Given the description of an element on the screen output the (x, y) to click on. 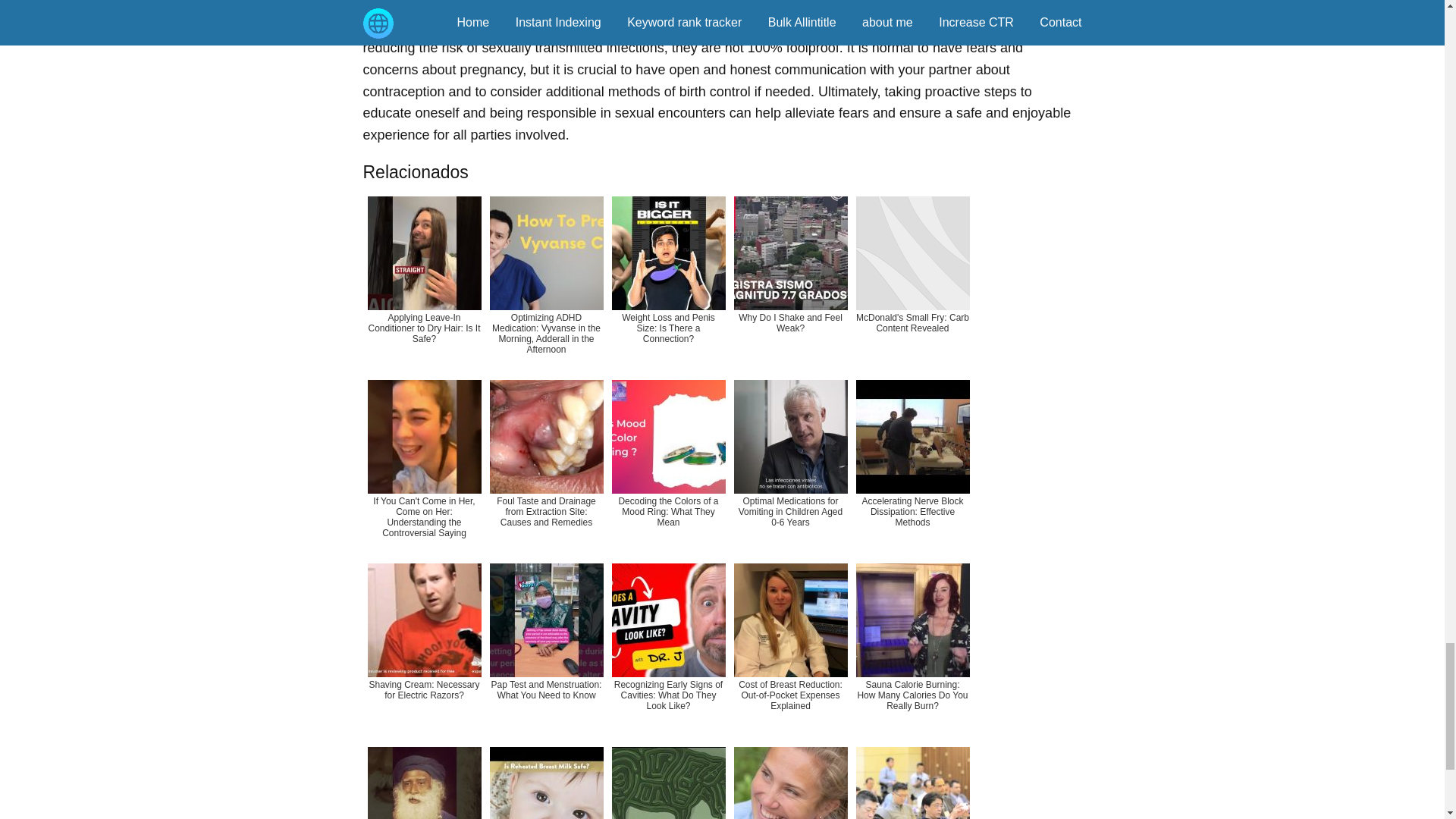
Healing Nerve Damage Post Wisdom Teeth Extraction (790, 780)
Castor Oil: Stomach Cleanse Timeframe (423, 780)
